Given the description of an element on the screen output the (x, y) to click on. 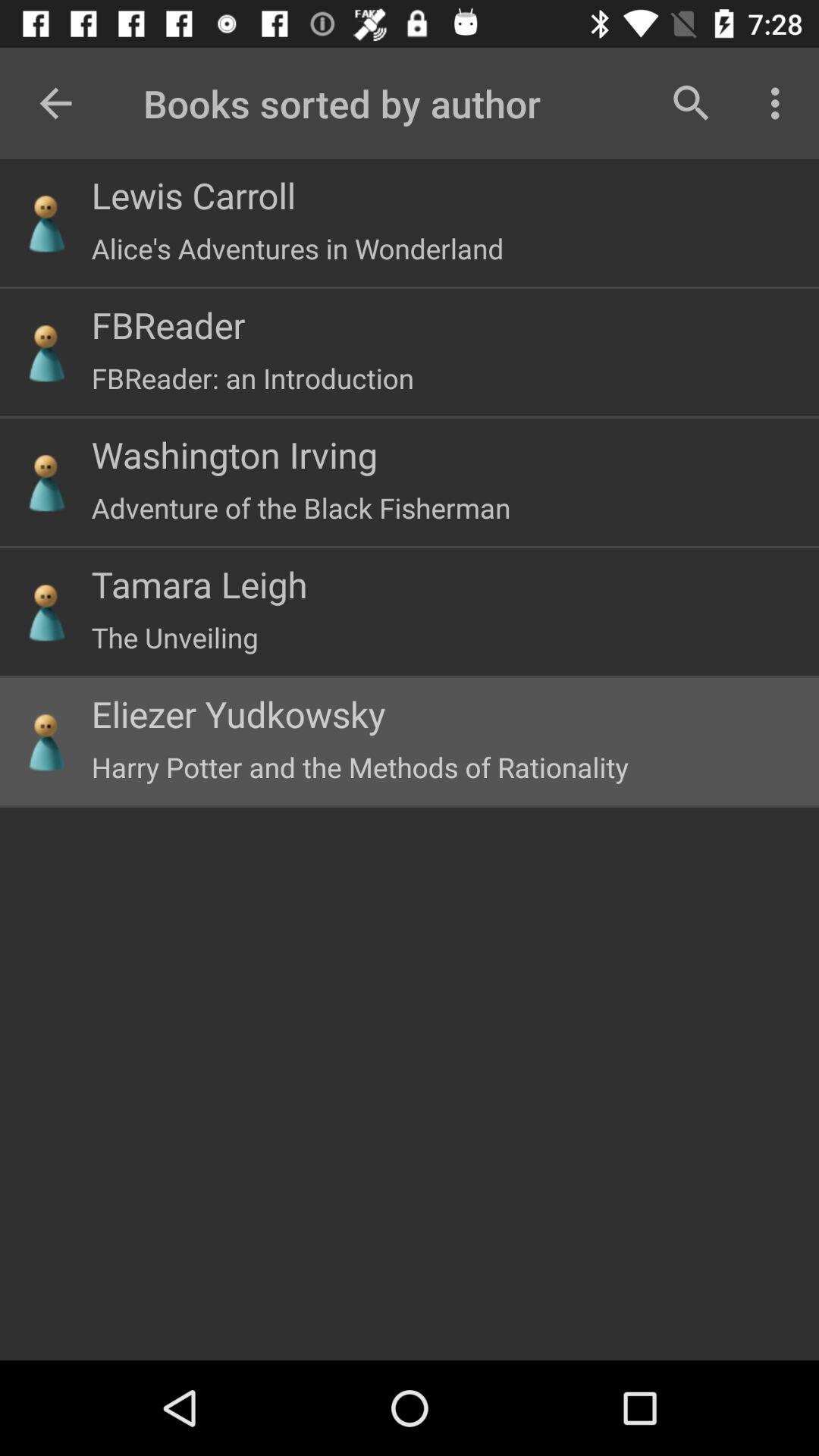
select the harry potter and icon (359, 767)
